Given the description of an element on the screen output the (x, y) to click on. 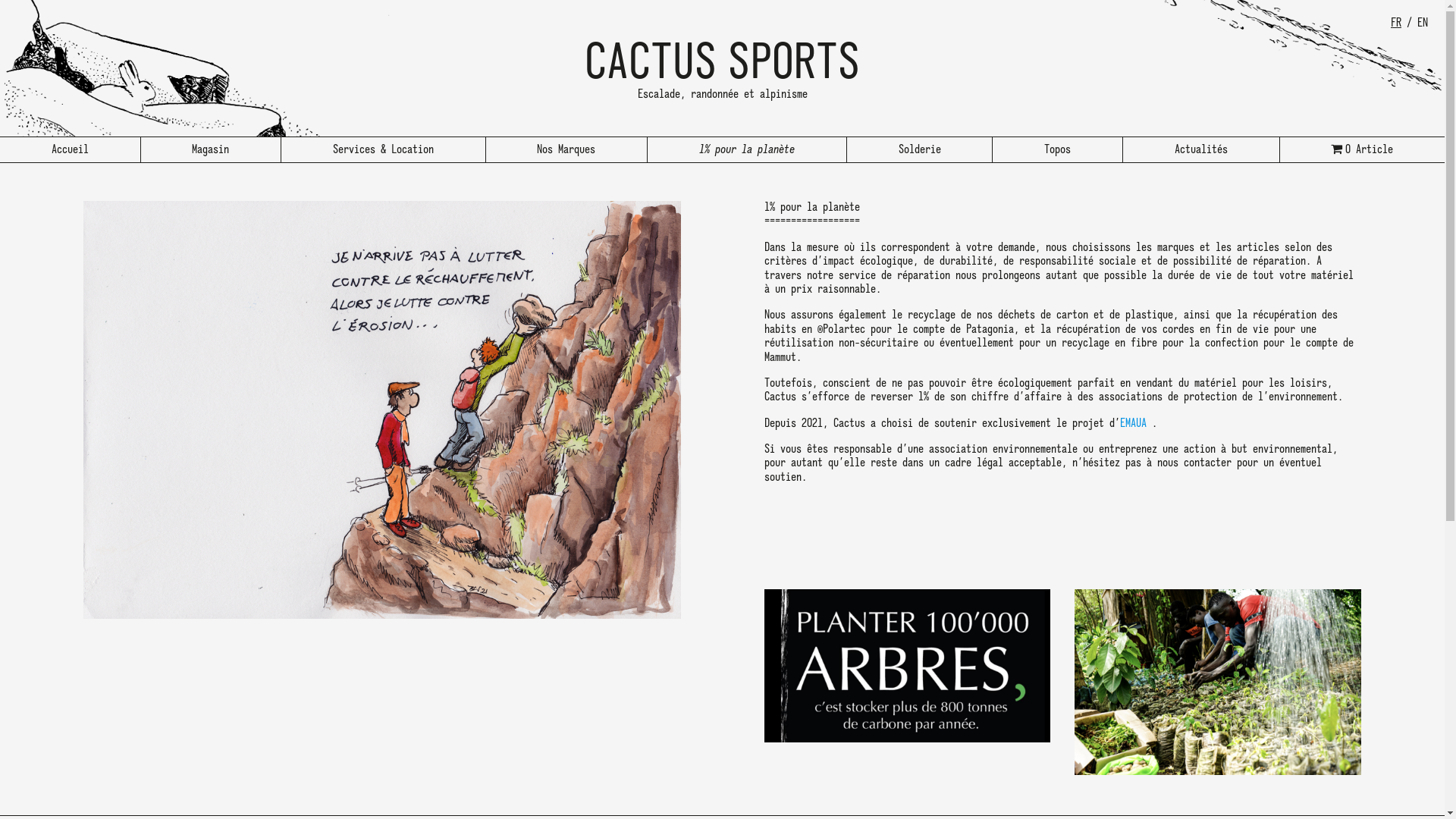
Magasin Element type: text (211, 150)
EN Element type: text (1422, 23)
Topos Element type: text (1057, 150)
0 Article Element type: text (1362, 150)
Solderie Element type: text (920, 150)
Services & Location Element type: text (383, 150)
FR Element type: text (1395, 23)
EMAUA Element type: text (1132, 423)
Nos Marques Element type: text (567, 150)
Accueil Element type: text (70, 150)
